Given the description of an element on the screen output the (x, y) to click on. 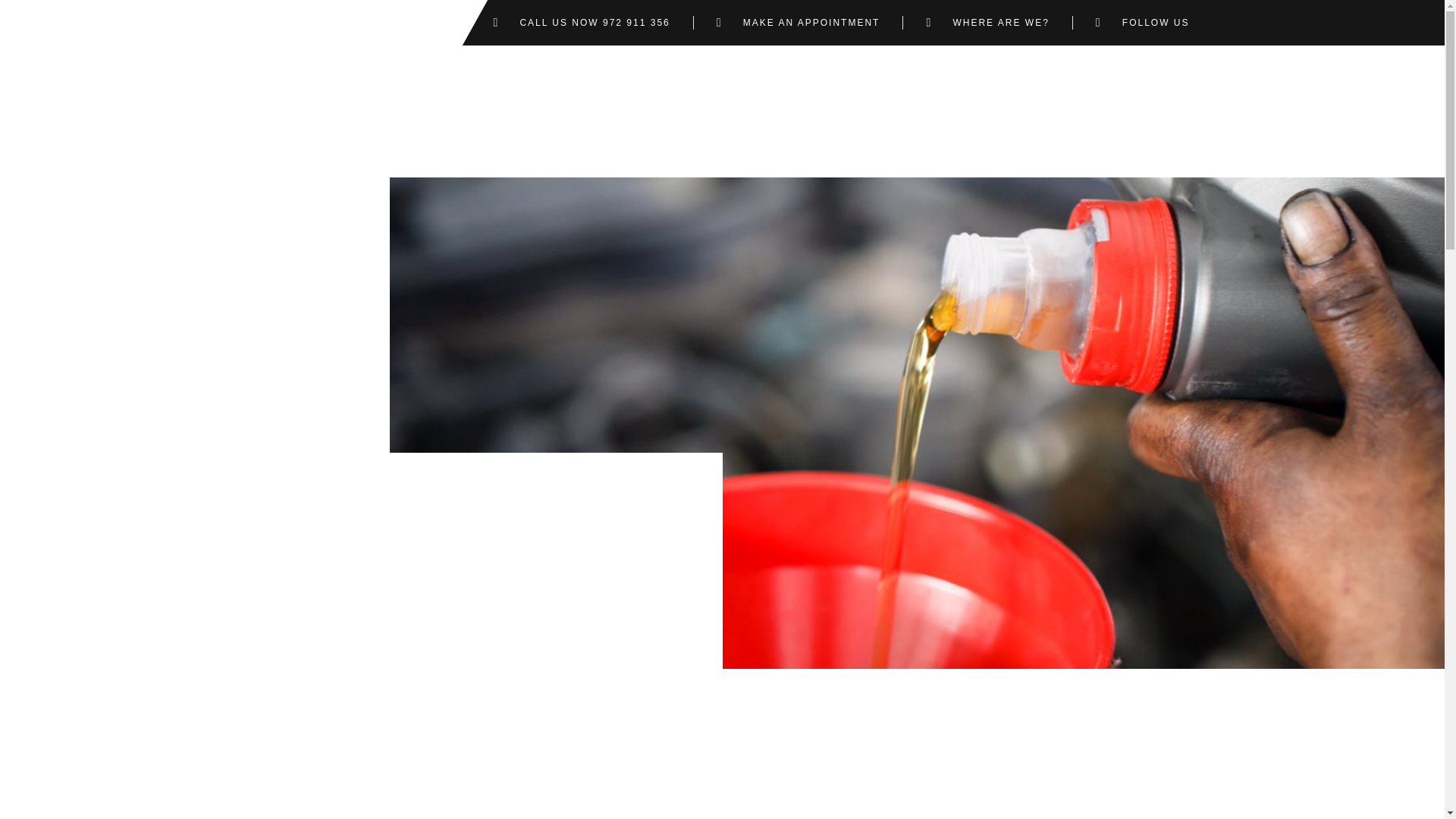
WHERE ARE WE? (987, 22)
CALL US NOW 972 911 356 (581, 22)
FOLLOW US (1142, 22)
MAKE AN APPOINTMENT (798, 22)
